Given the description of an element on the screen output the (x, y) to click on. 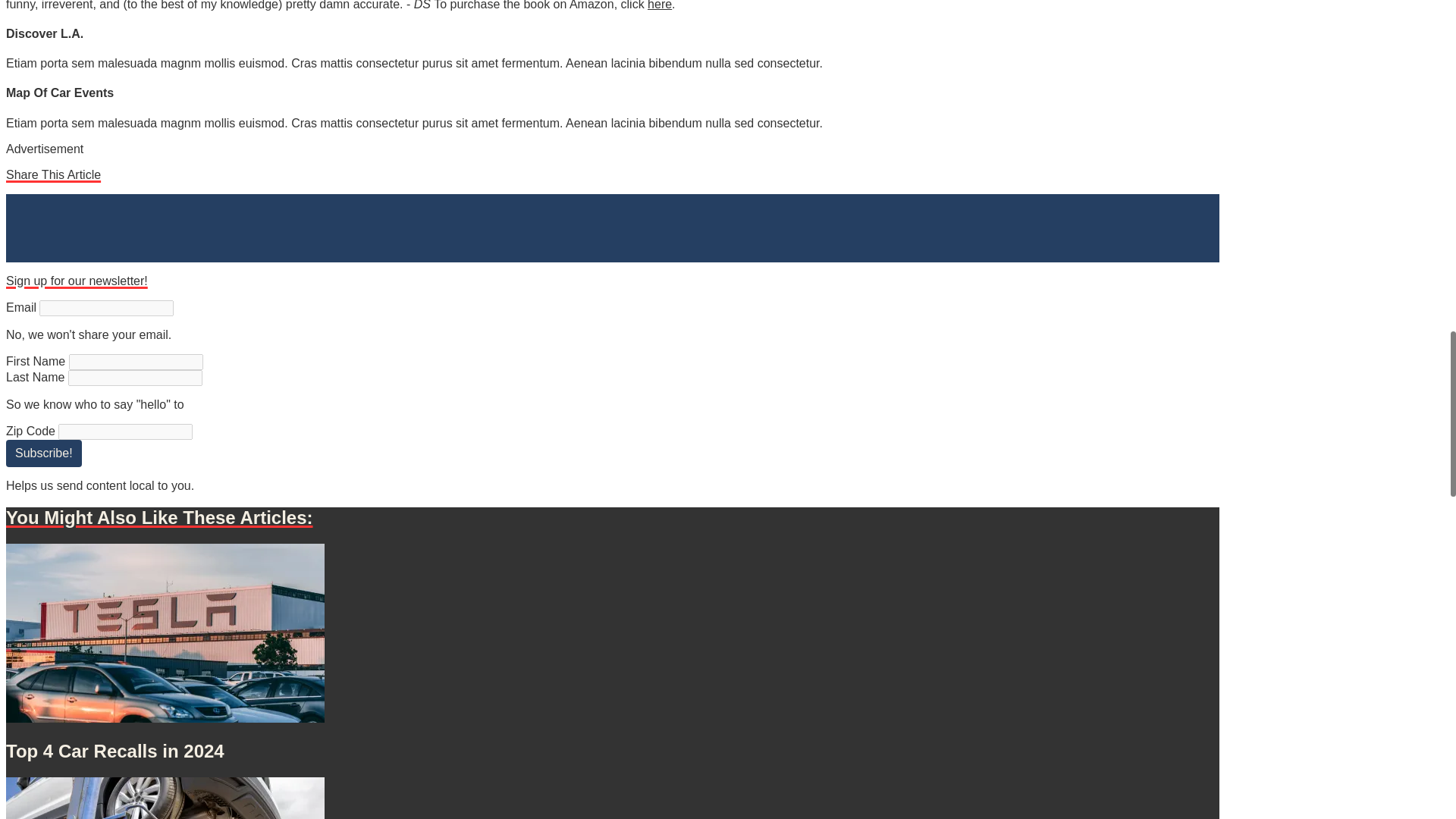
here (659, 5)
Subscribe! (43, 452)
